Given the description of an element on the screen output the (x, y) to click on. 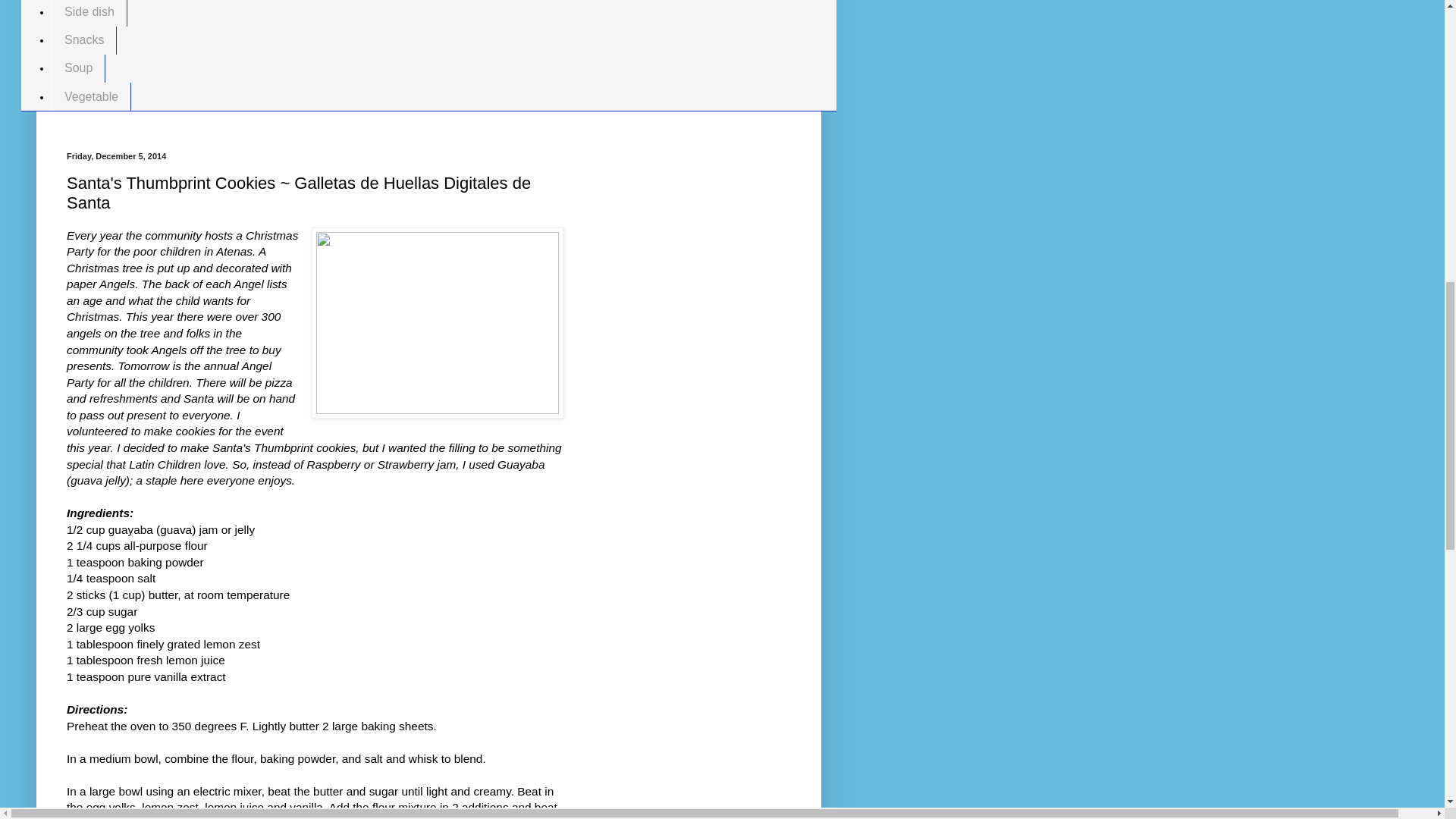
Snacks (83, 40)
Soup (77, 68)
Vegetable (90, 96)
Side dish (89, 12)
